Given the description of an element on the screen output the (x, y) to click on. 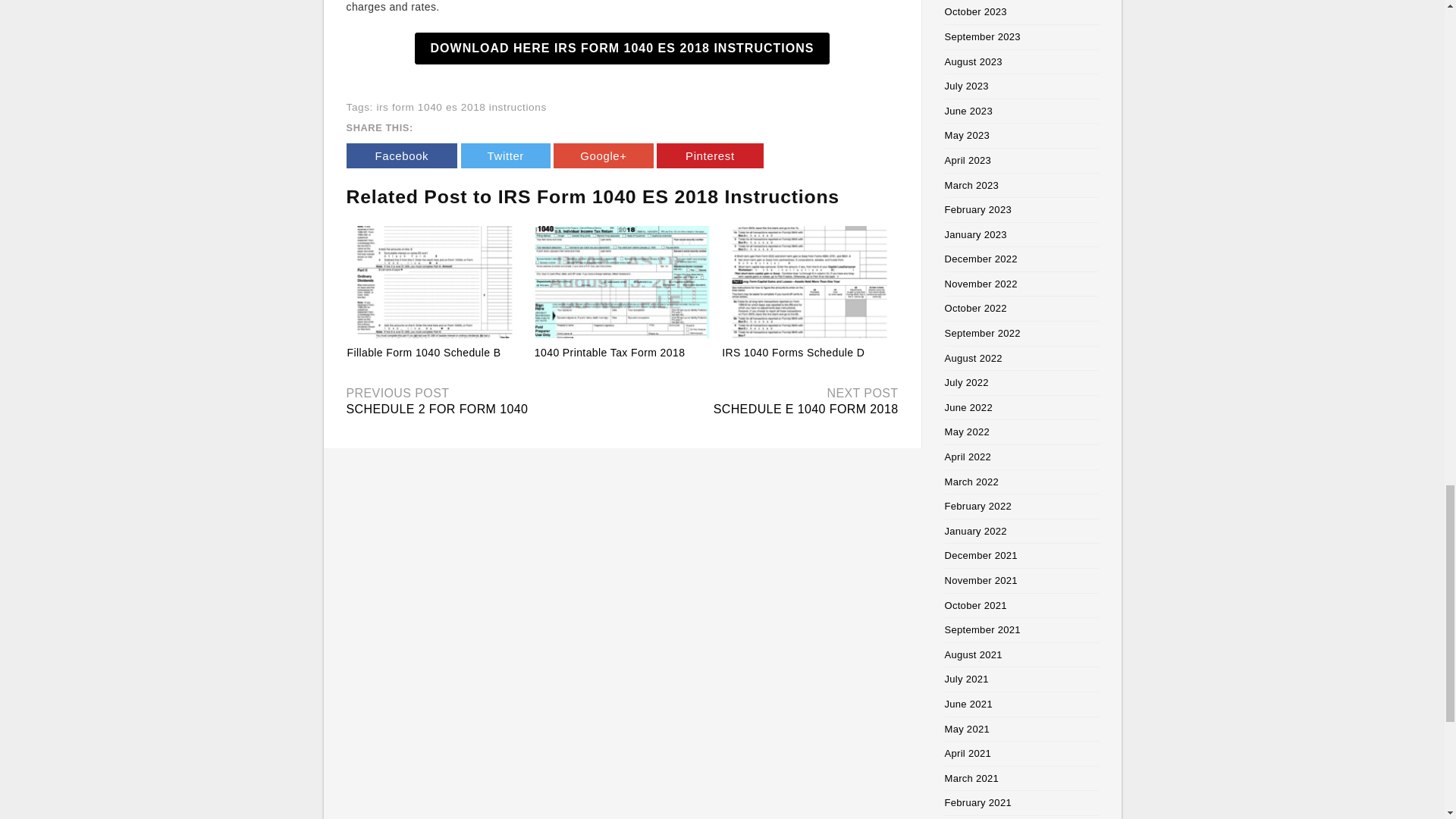
1040 Printable Tax Form 2018 (622, 282)
SCHEDULE E 1040 FORM 2018 (805, 408)
1040 Printable Tax Form 2018 (609, 352)
DOWNLOAD HERE IRS FORM 1040 ES 2018 INSTRUCTIONS (621, 48)
DOWNLOAD HERE IRS FORM 1040 ES 2018 INSTRUCTIONS (621, 48)
SCHEDULE 2 FOR FORM 1040 (436, 408)
irs form 1040 es 2018 instructions (460, 107)
Fillable Form 1040 Schedule B (423, 352)
IRS 1040 Forms Schedule D (793, 352)
1040 Printable Tax Form 2018 (609, 352)
Twitter (505, 155)
Facebook (401, 155)
October 2023 (975, 11)
Fillable Form 1040 Schedule B (434, 282)
IRS 1040 Forms Schedule D (793, 352)
